Given the description of an element on the screen output the (x, y) to click on. 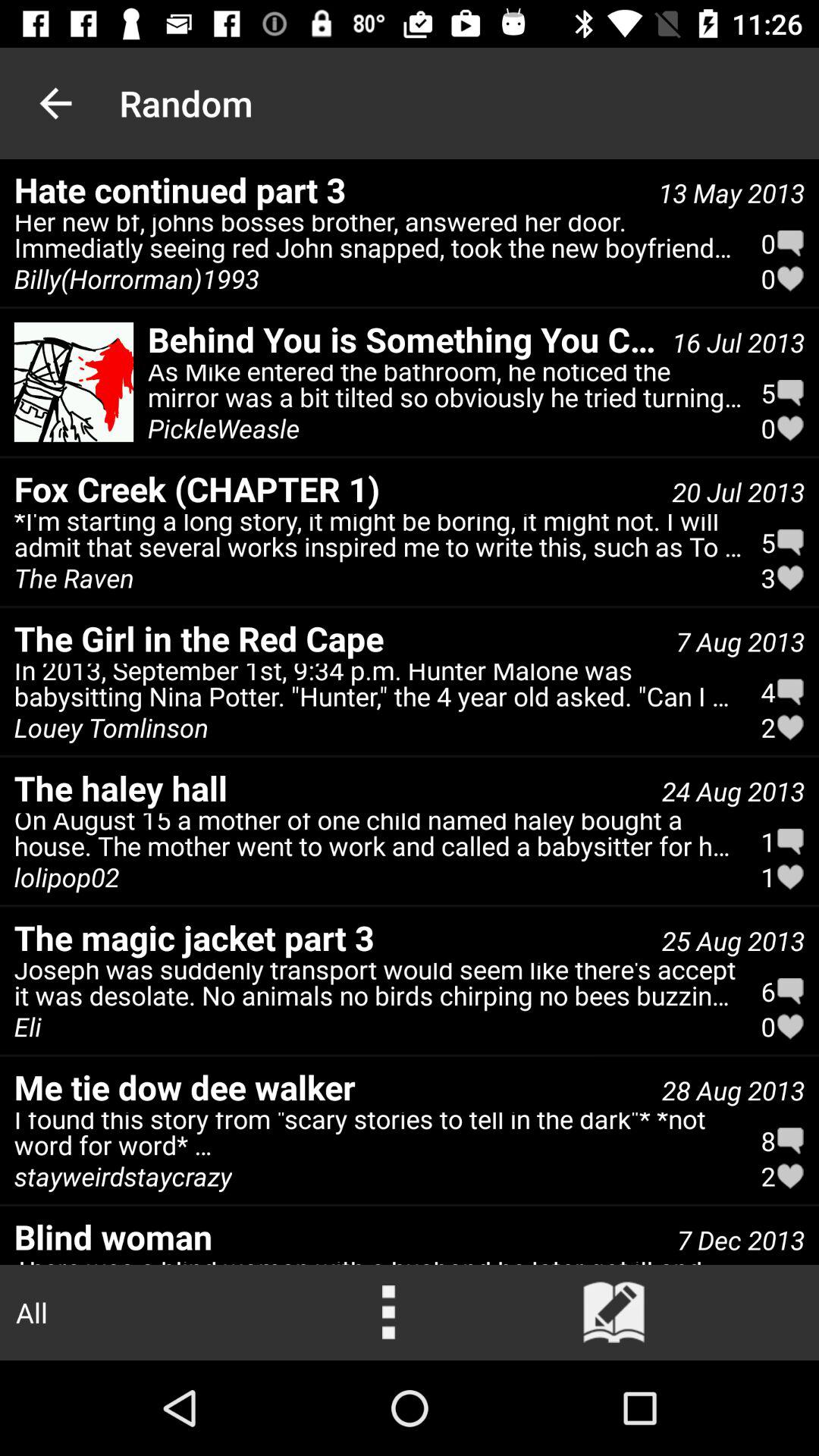
turn on the her new bf item (378, 240)
